Given the description of an element on the screen output the (x, y) to click on. 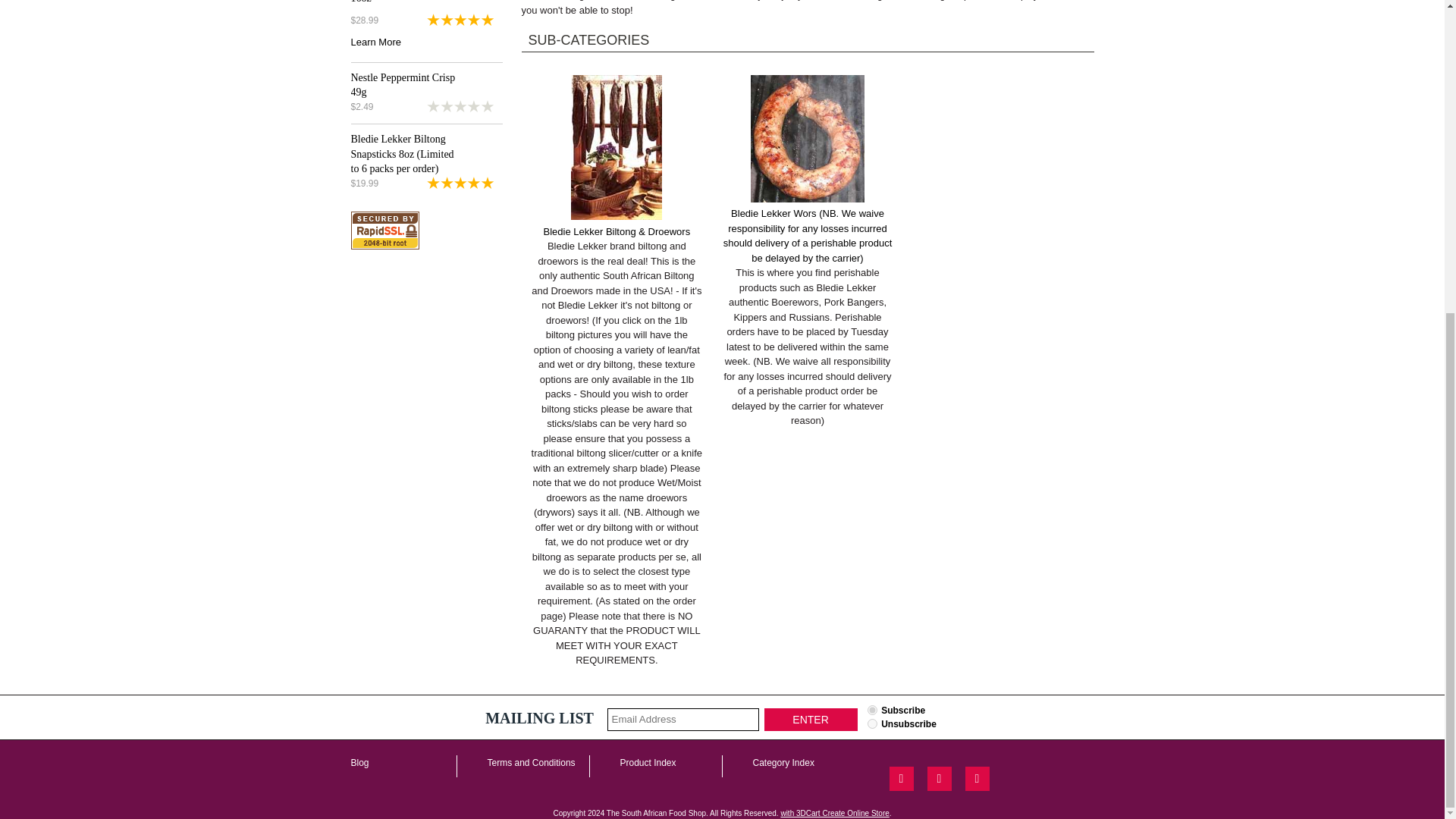
Like Us on Facebook (900, 778)
Learn More (375, 41)
Bledie Lekker Droewors 16oz (402, 2)
Follow Us on Twitter (938, 778)
Follow Us on Pinterest (975, 778)
0 (872, 723)
1 (872, 709)
